Given the description of an element on the screen output the (x, y) to click on. 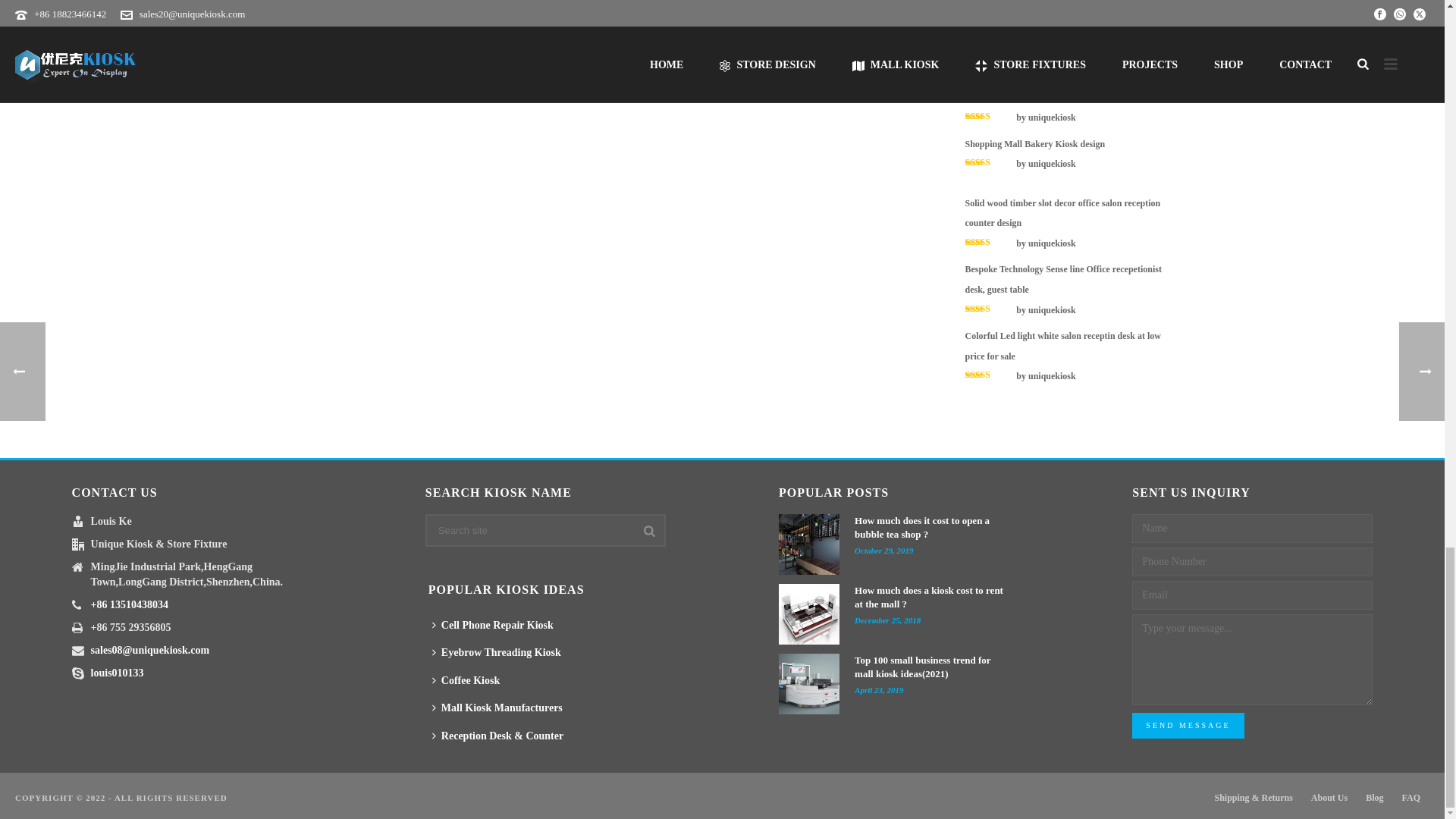
Rated 5 out of 5 (988, 49)
Rated 5 out of 5 (988, 241)
Rated 5 out of 5 (988, 374)
How much does it cost to open a bubble tea shop ? (809, 544)
Rated 5 out of 5 (988, 307)
Rated 5 out of 5 (988, 115)
Rated 5 out of 5 (988, 162)
